Given the description of an element on the screen output the (x, y) to click on. 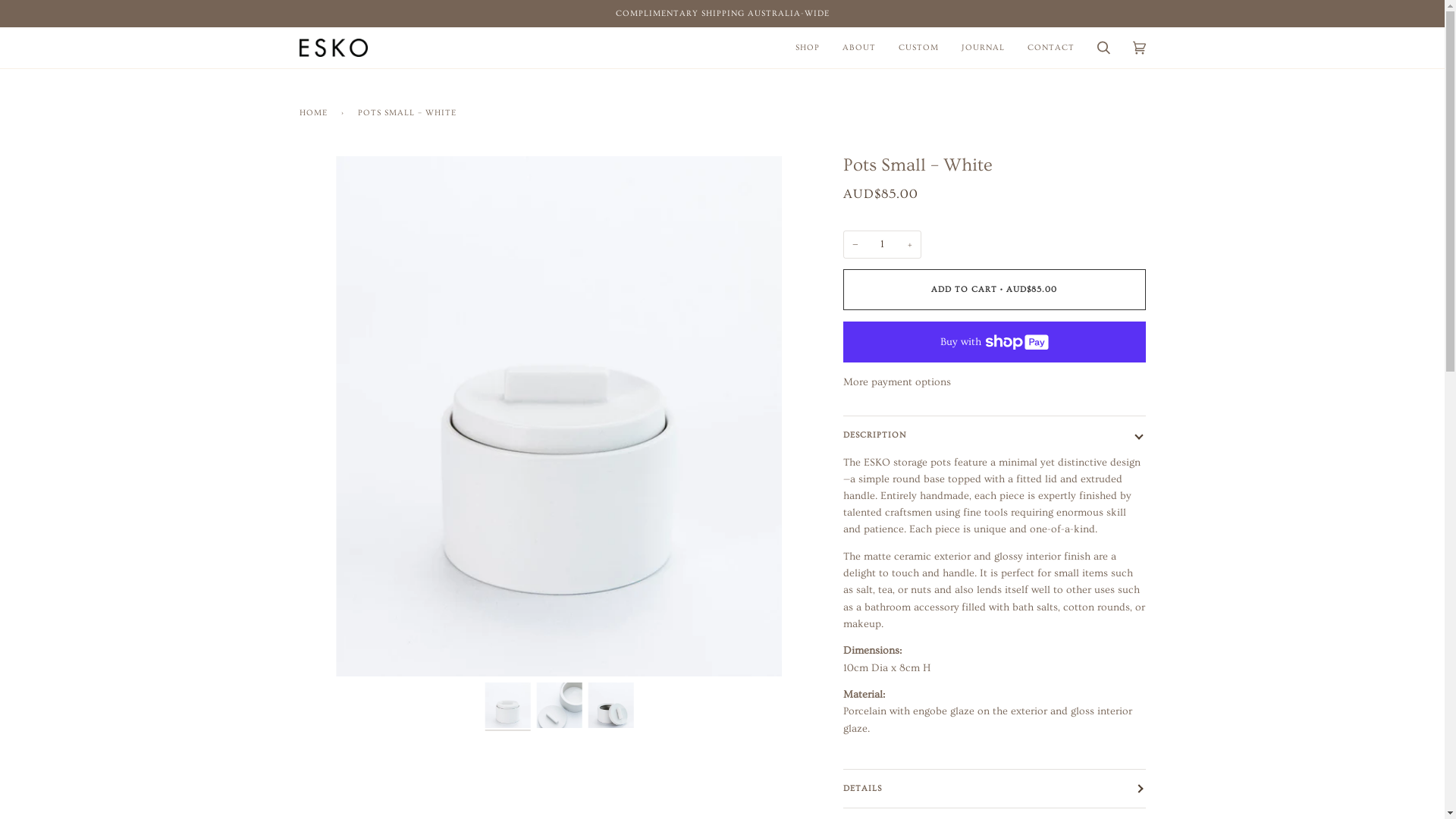
HOME Element type: text (315, 112)
CONTACT Element type: text (1050, 47)
CUSTOM Element type: text (918, 47)
+ Element type: text (909, 244)
Cart
(0) Element type: text (1138, 47)
More payment options Element type: text (994, 382)
Search Element type: text (1103, 47)
DESCRIPTION Element type: text (994, 435)
ABOUT Element type: text (859, 47)
DETAILS Element type: text (994, 788)
JOURNAL Element type: text (982, 47)
SHOP Element type: text (807, 47)
